Given the description of an element on the screen output the (x, y) to click on. 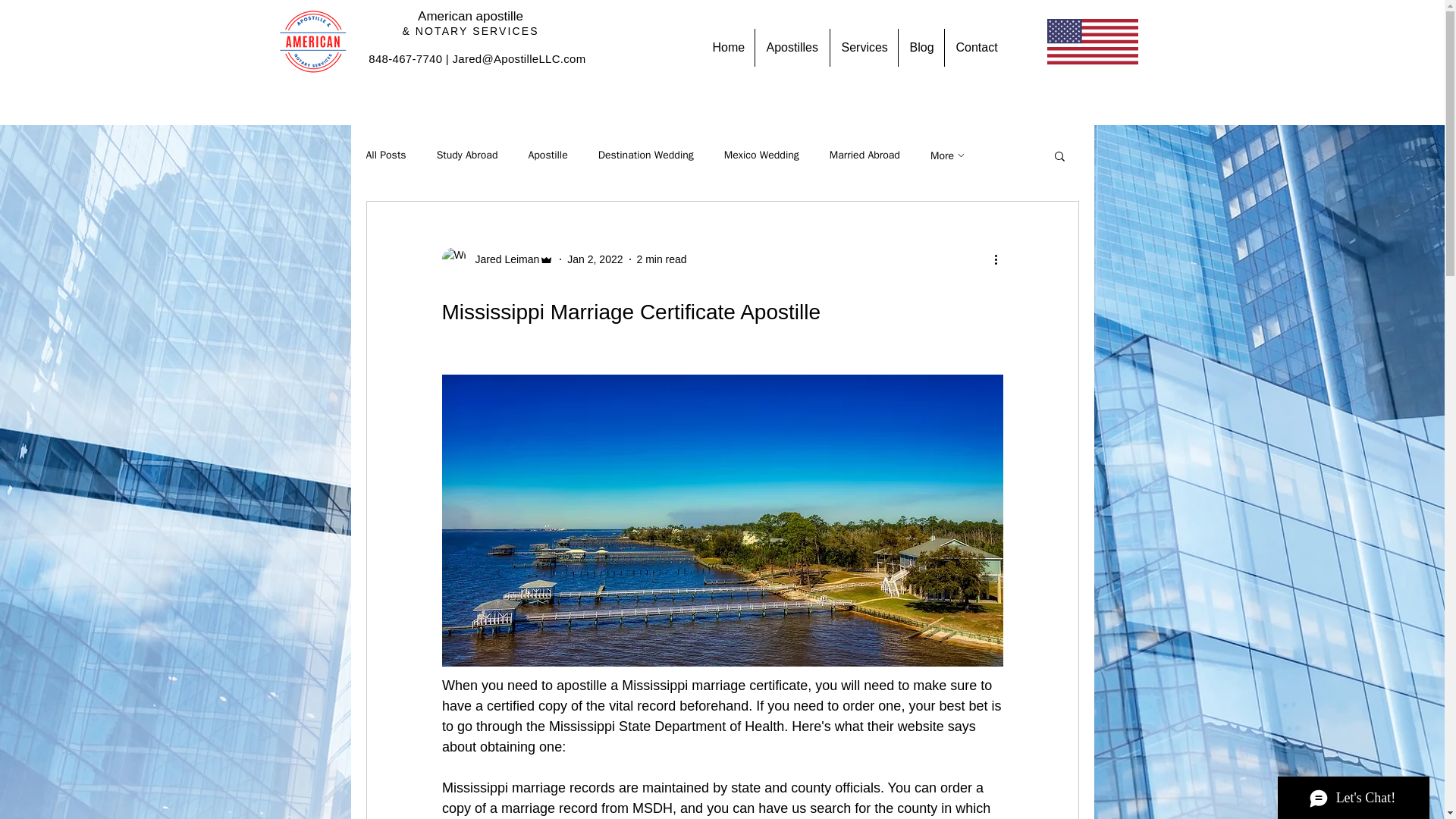
Study Abroad (466, 155)
Jan 2, 2022 (595, 259)
Blog (920, 47)
Services (862, 47)
Apostilles (792, 47)
Married Abroad (864, 155)
Destination Wedding (646, 155)
Home (727, 47)
Jared Leiman (497, 259)
All Posts (385, 155)
Apostille (547, 155)
American apostille (469, 16)
2 min read (662, 259)
Mexico Wedding (761, 155)
Contact (975, 47)
